Given the description of an element on the screen output the (x, y) to click on. 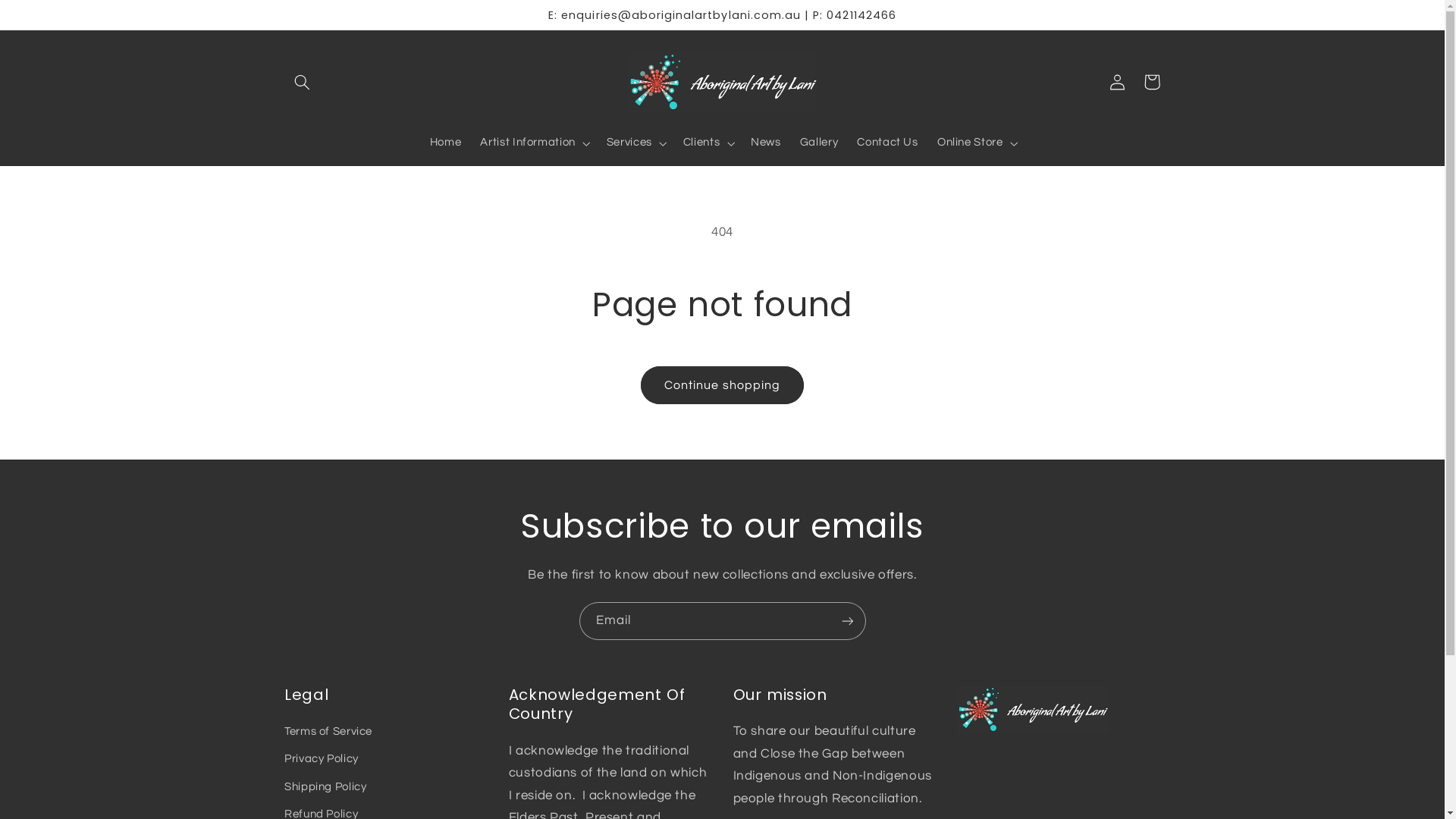
Contact Us Element type: text (887, 143)
Shipping Policy Element type: text (325, 786)
Gallery Element type: text (818, 143)
Cart Element type: text (1151, 81)
Home Element type: text (445, 143)
Continue shopping Element type: text (722, 384)
Privacy Policy Element type: text (321, 758)
Terms of Service Element type: text (328, 733)
News Element type: text (765, 143)
Log in Element type: text (1116, 81)
